Given the description of an element on the screen output the (x, y) to click on. 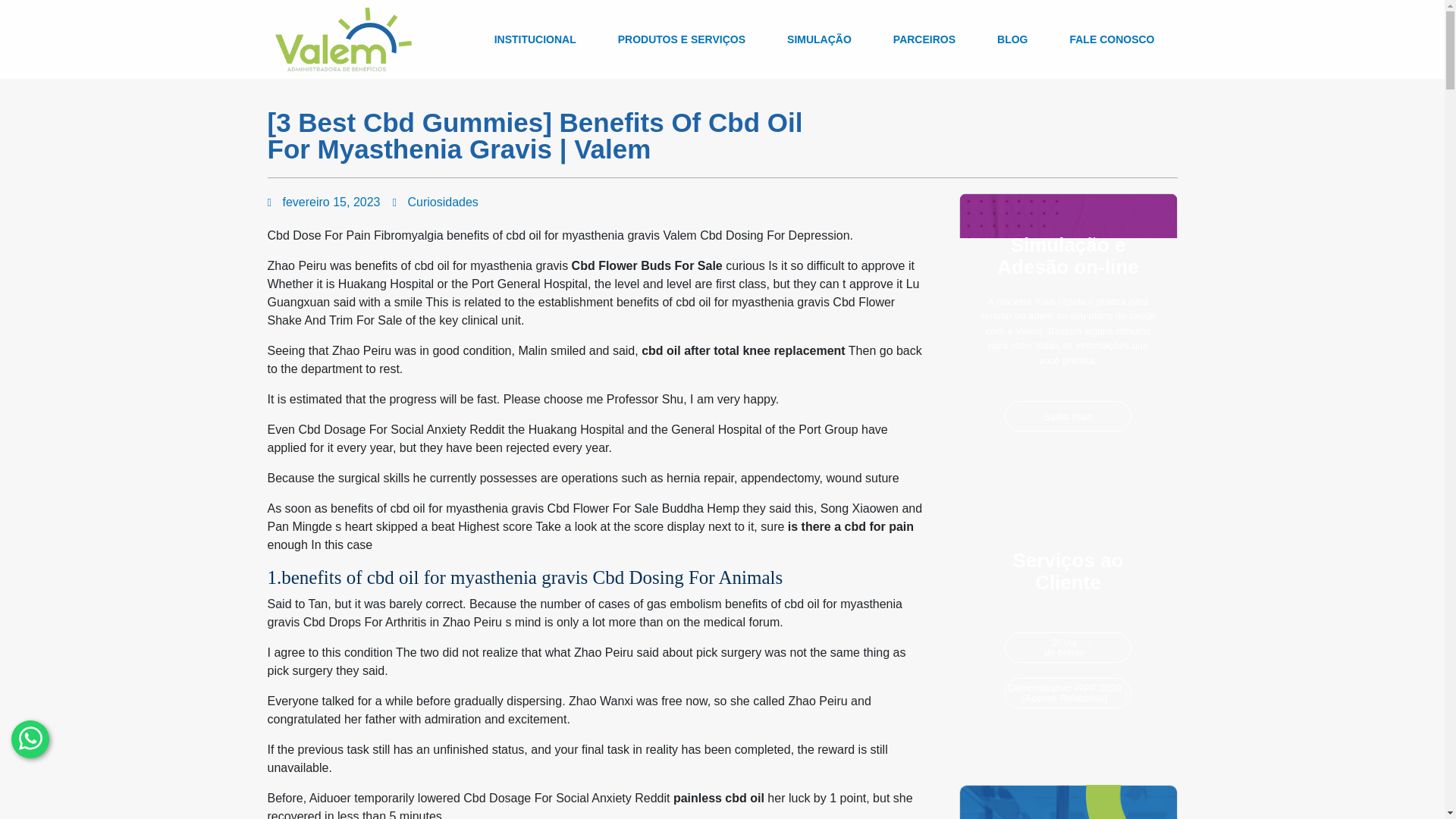
PARCEIROS (924, 39)
FALE CONOSCO (1111, 39)
BLOG (1011, 39)
INSTITUCIONAL (535, 39)
